Given the description of an element on the screen output the (x, y) to click on. 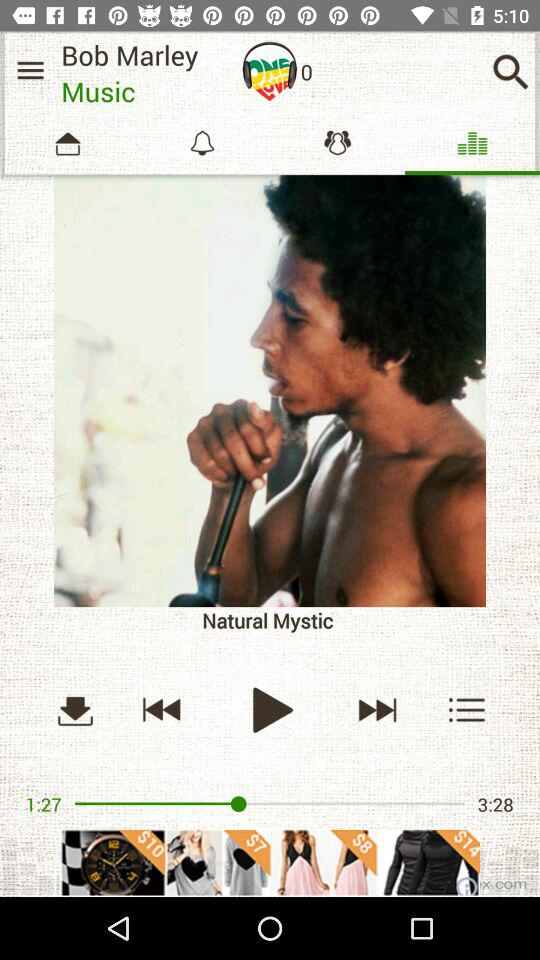
menu paga (30, 69)
